Given the description of an element on the screen output the (x, y) to click on. 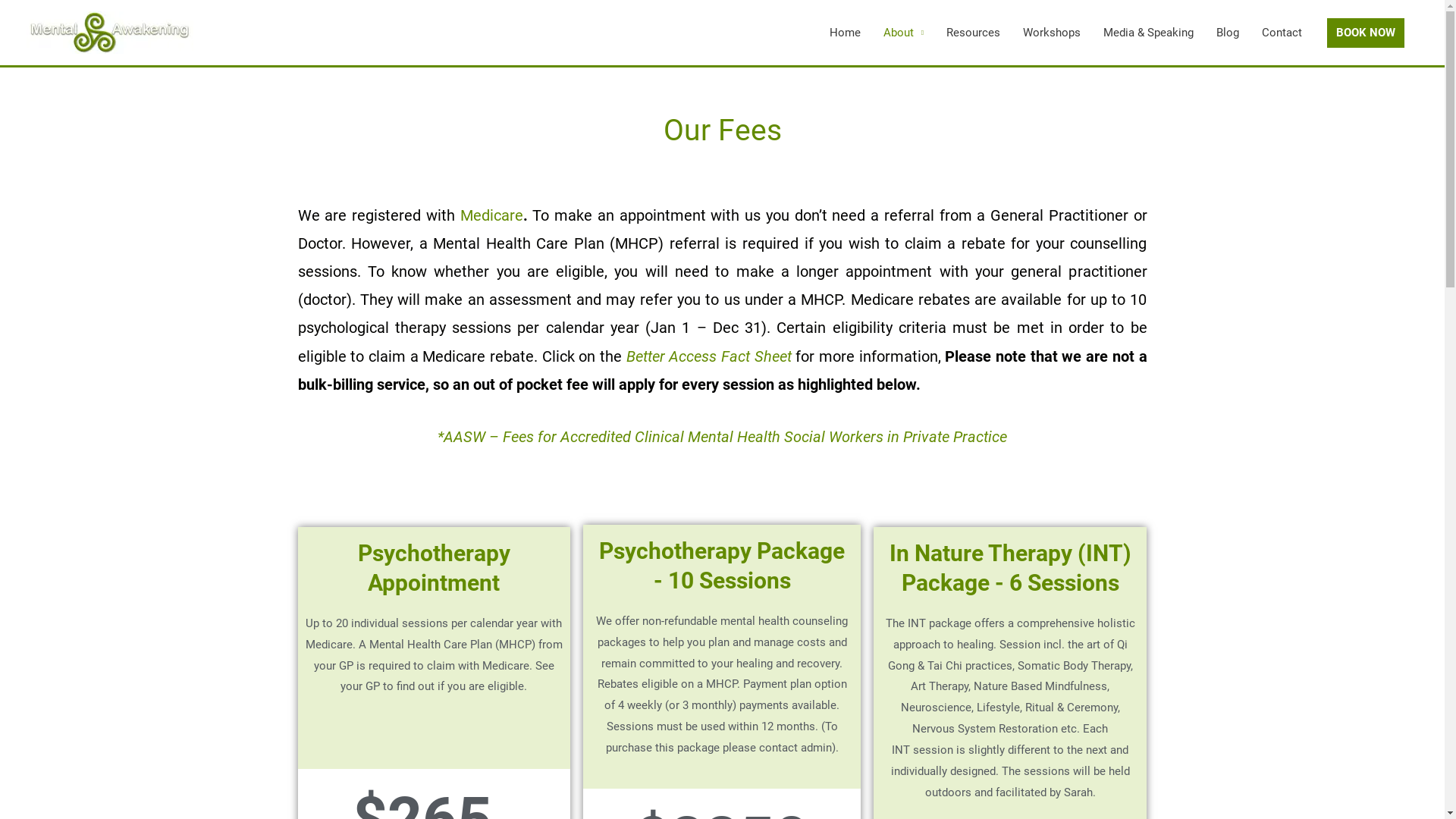
Resources Element type: text (973, 32)
Medicare Element type: text (490, 215)
Home Element type: text (845, 32)
About Element type: text (903, 32)
Contact Element type: text (1281, 32)
Workshops Element type: text (1051, 32)
BOOK NOW Element type: text (1365, 32)
Blog Element type: text (1227, 32)
Better Access Fact Sheet Element type: text (708, 356)
Media & Speaking Element type: text (1148, 32)
